Given the description of an element on the screen output the (x, y) to click on. 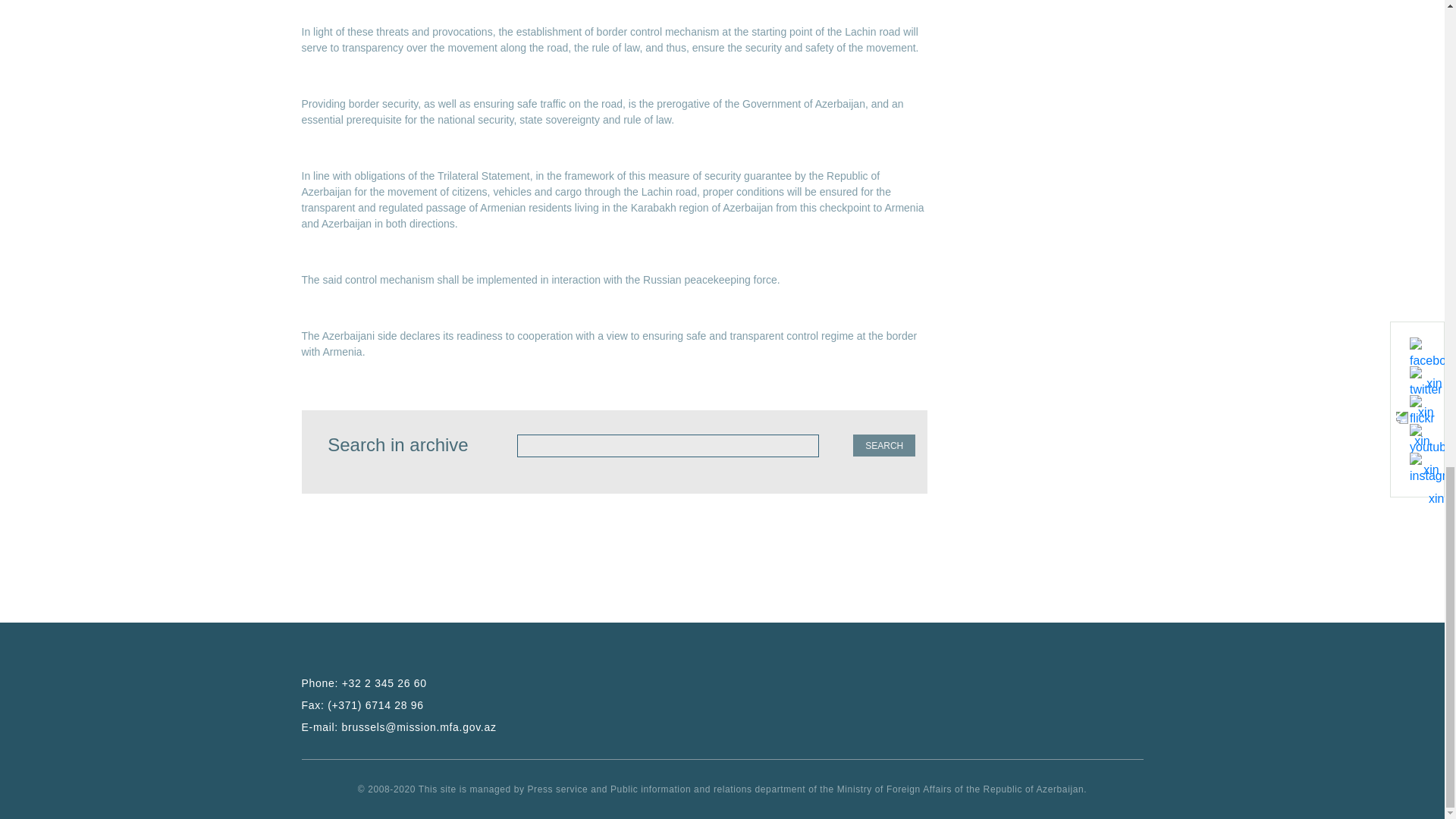
SEARCH (884, 445)
